Given the description of an element on the screen output the (x, y) to click on. 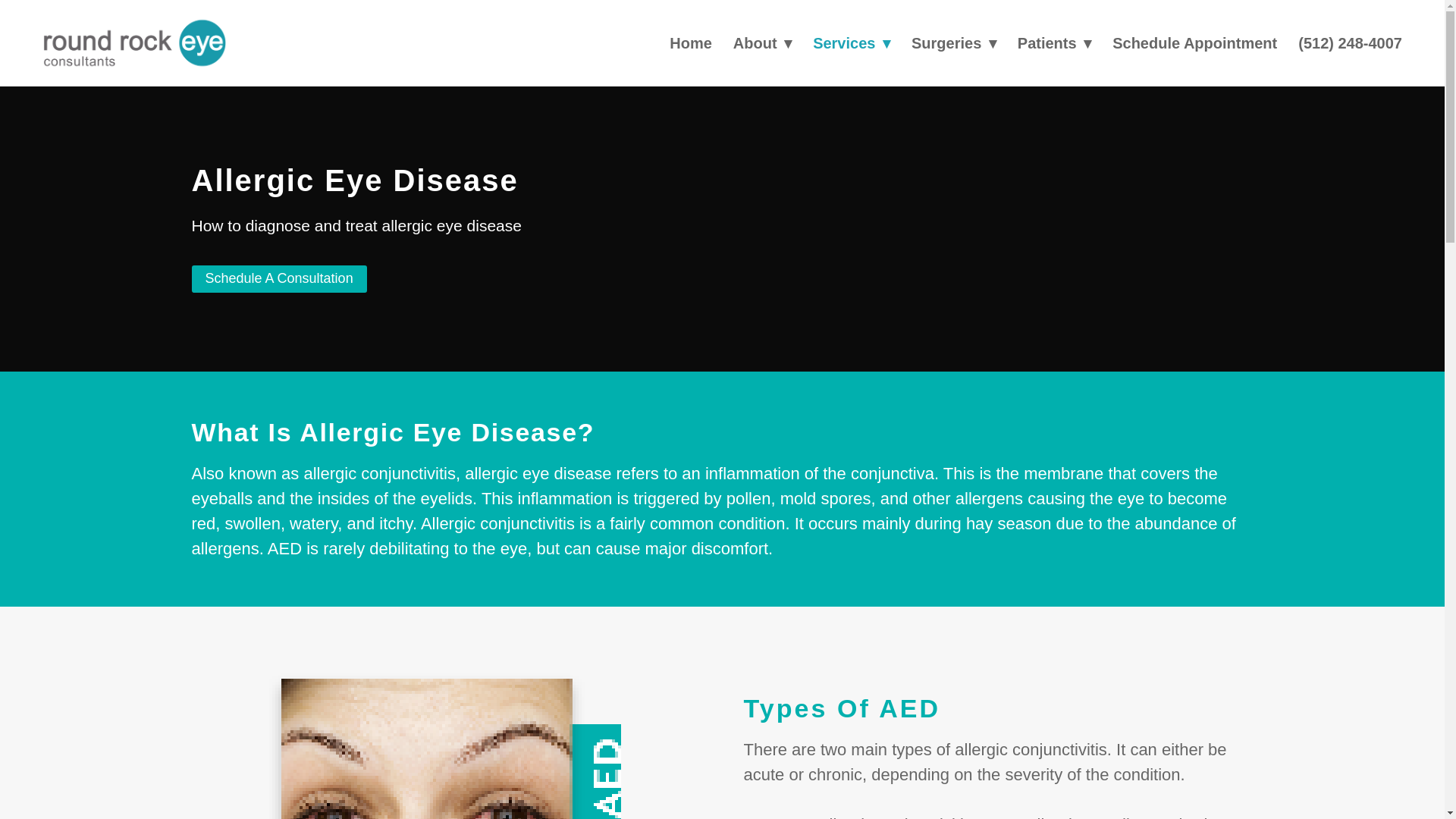
Schedule A Consultation (278, 278)
Round Rock Eye Consultants (134, 43)
Photo of a woman with red eyes (445, 741)
Schedule Appointment (1194, 42)
Home (690, 42)
